Given the description of an element on the screen output the (x, y) to click on. 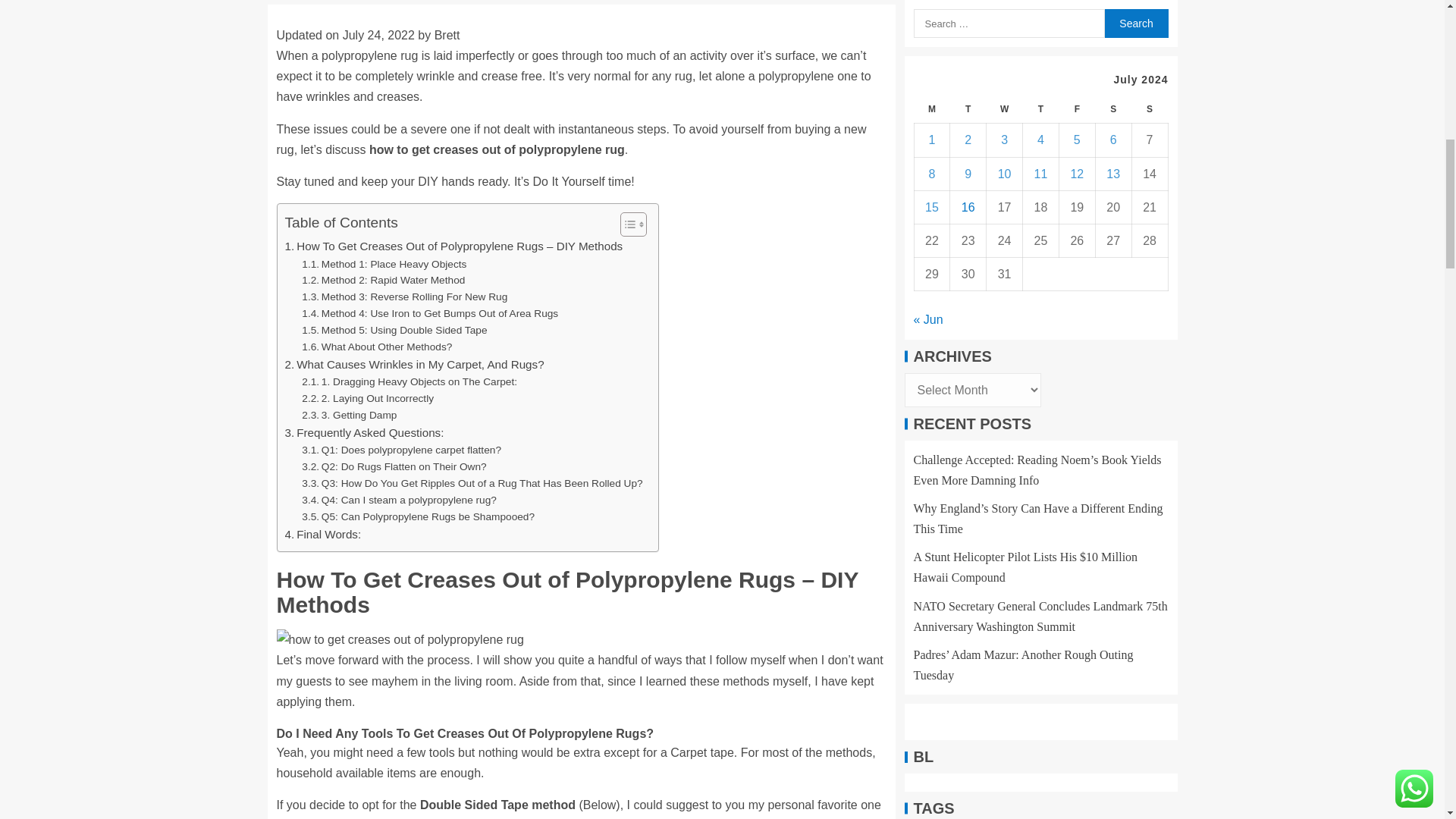
Frequently Asked Questions: (364, 433)
Method 3: Reverse Rolling For New Rug (403, 297)
What Causes Wrinkles in My Carpet, And Rugs? (414, 364)
Method 3: Reverse Rolling For New Rug (403, 297)
3. Getting Damp (348, 415)
Method 4: Use Iron to Get Bumps Out of Area Rugs (429, 313)
Method 5: Using Double Sided Tape (393, 330)
1. Dragging Heavy Objects on The Carpet: (408, 381)
Method 2: Rapid Water Method (382, 280)
3. Getting Damp (348, 415)
2. Laying Out Incorrectly (367, 398)
Method 1: Place Heavy Objects (383, 264)
What Causes Wrinkles in My Carpet, And Rugs? (414, 364)
Frequently Asked Questions: (364, 433)
